Given the description of an element on the screen output the (x, y) to click on. 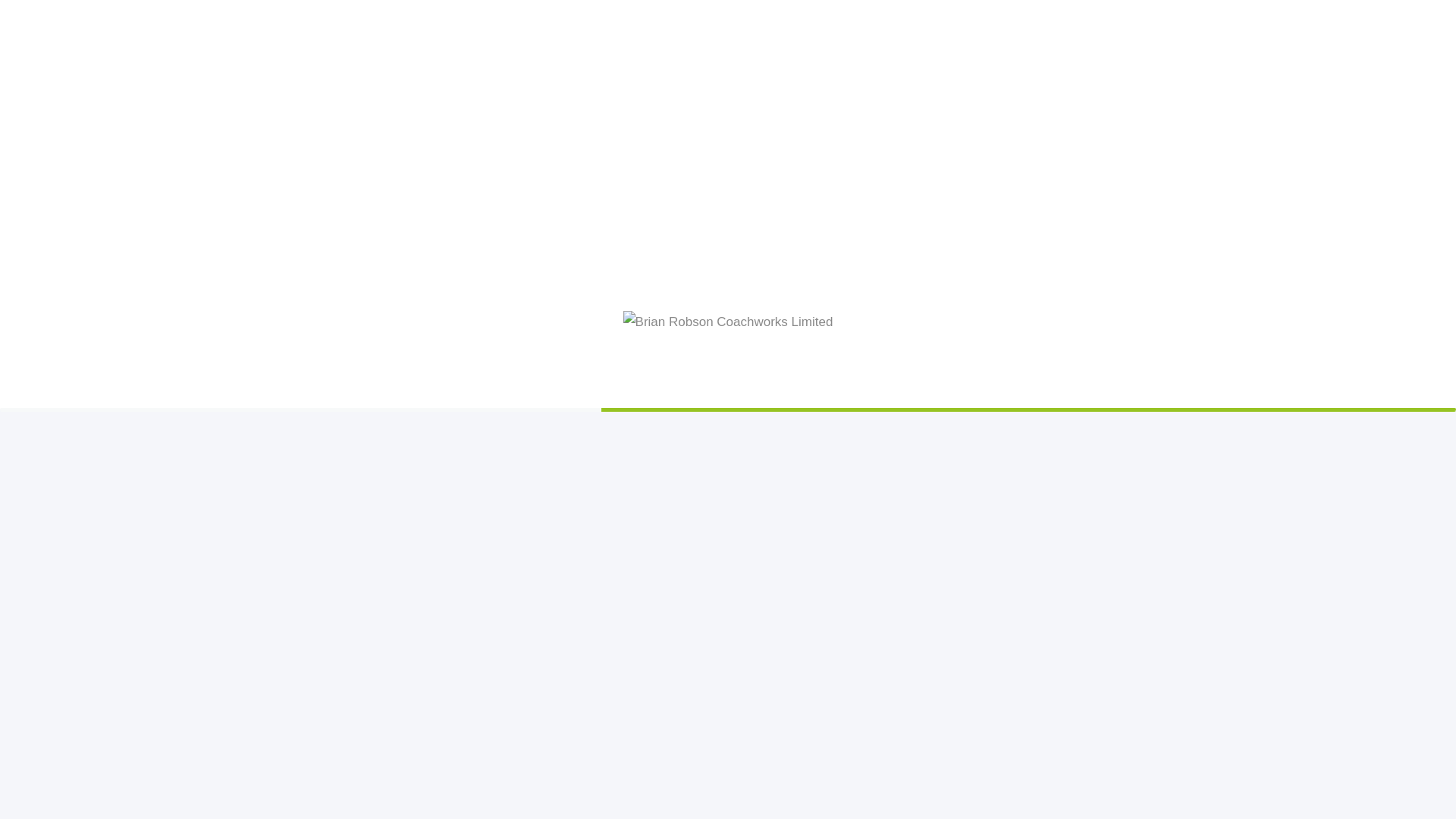
Home (306, 18)
Latest News (366, 18)
Contact Us (428, 18)
